Given the description of an element on the screen output the (x, y) to click on. 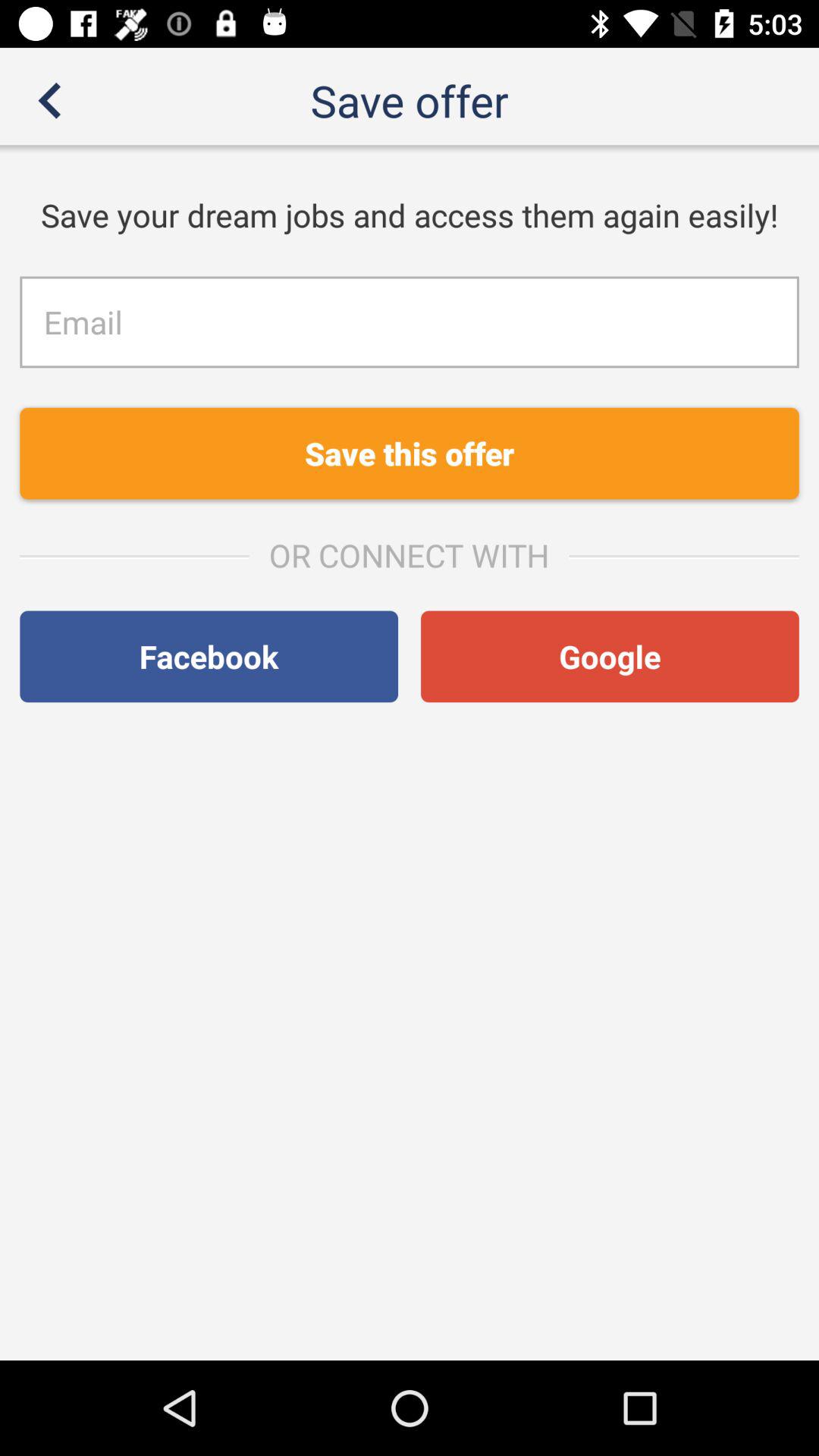
enter email (409, 321)
